Given the description of an element on the screen output the (x, y) to click on. 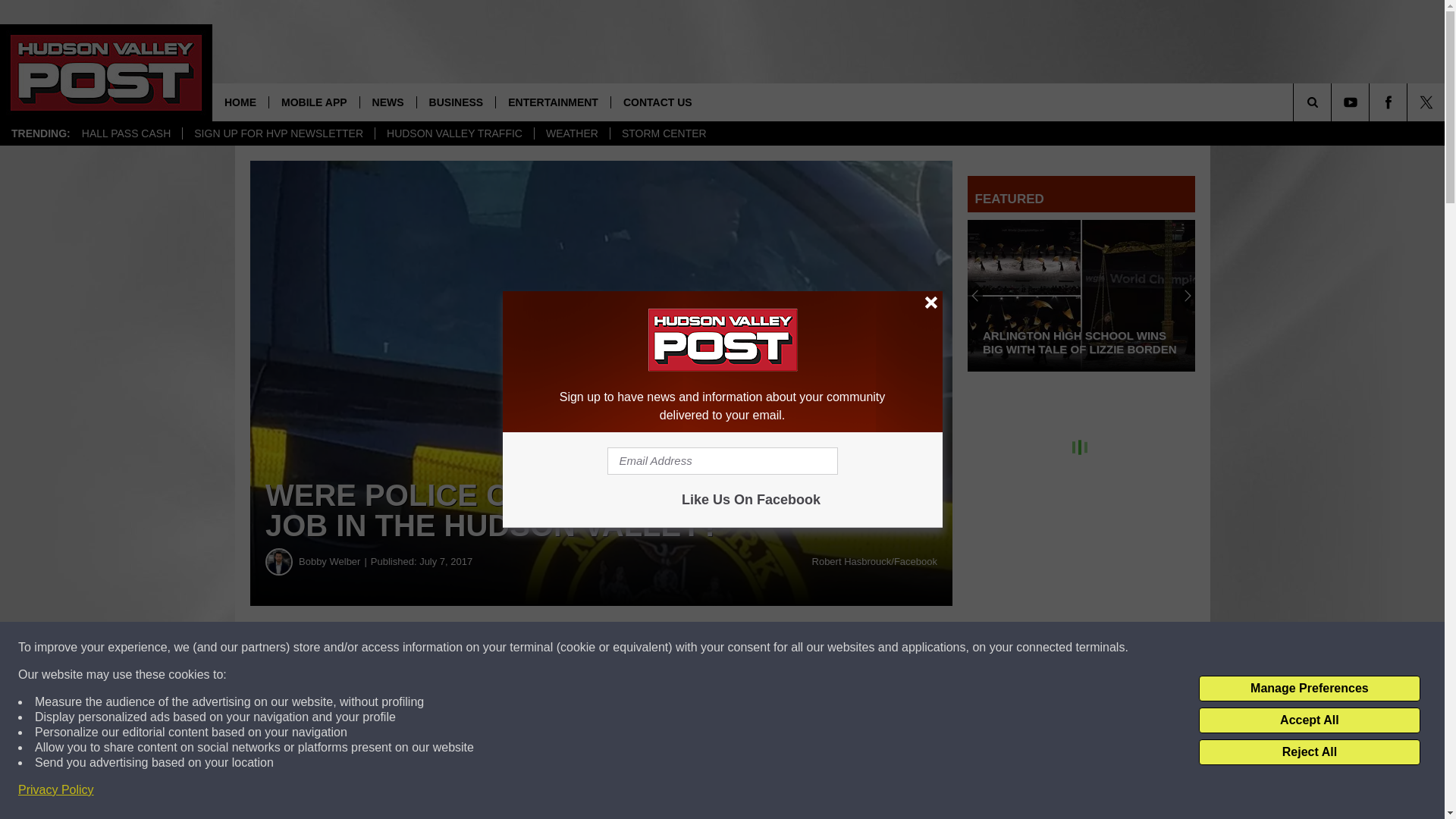
WEATHER (572, 133)
BUSINESS (456, 102)
HUDSON VALLEY TRAFFIC (454, 133)
MOBILE APP (313, 102)
SEARCH (1333, 102)
Accept All (1309, 720)
SIGN UP FOR HVP NEWSLETTER (278, 133)
Email Address (722, 461)
NEWS (387, 102)
Reject All (1309, 751)
CONTACT US (657, 102)
ENTERTAINMENT (552, 102)
HALL PASS CASH (126, 133)
Share on Facebook (460, 647)
Share on Twitter (741, 647)
